Given the description of an element on the screen output the (x, y) to click on. 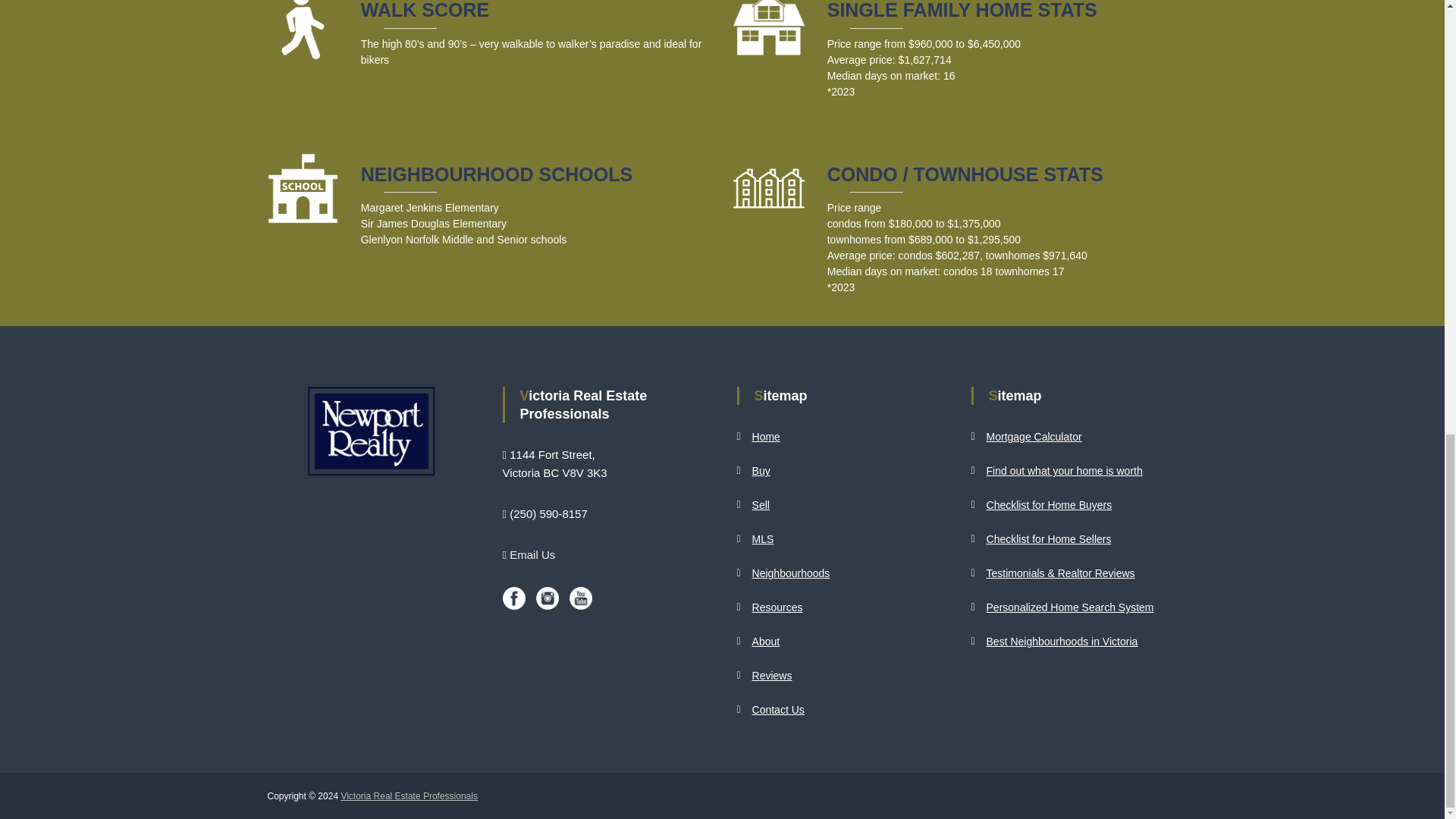
Sell (761, 504)
About (766, 641)
Reviews (772, 675)
Checklist for Home Sellers (1049, 539)
Checklist for Home Buyers (1049, 504)
Contact Us (778, 709)
Victoria Real Estate Professionals (408, 796)
Personalized Home Search System (1070, 607)
Buy (761, 470)
Best Neighbourhoods in Victoria (1062, 641)
Mortgage Calculator (1034, 436)
Email Us (531, 554)
Find out what your home is worth (1064, 470)
MLS (763, 539)
Home (766, 436)
